Given the description of an element on the screen output the (x, y) to click on. 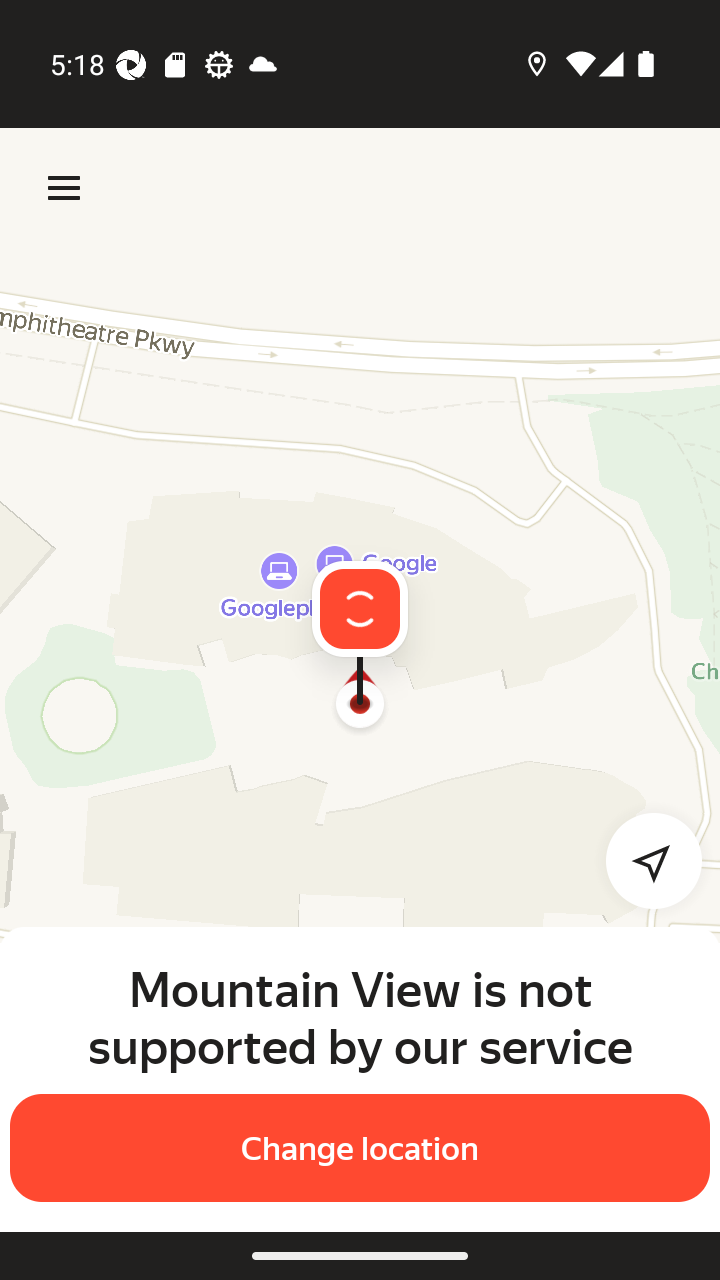
Menu Menu Menu (64, 188)
Detect my location (641, 860)
Mountain View is not supported by our service (360, 1017)
Change location (359, 1147)
